Given the description of an element on the screen output the (x, y) to click on. 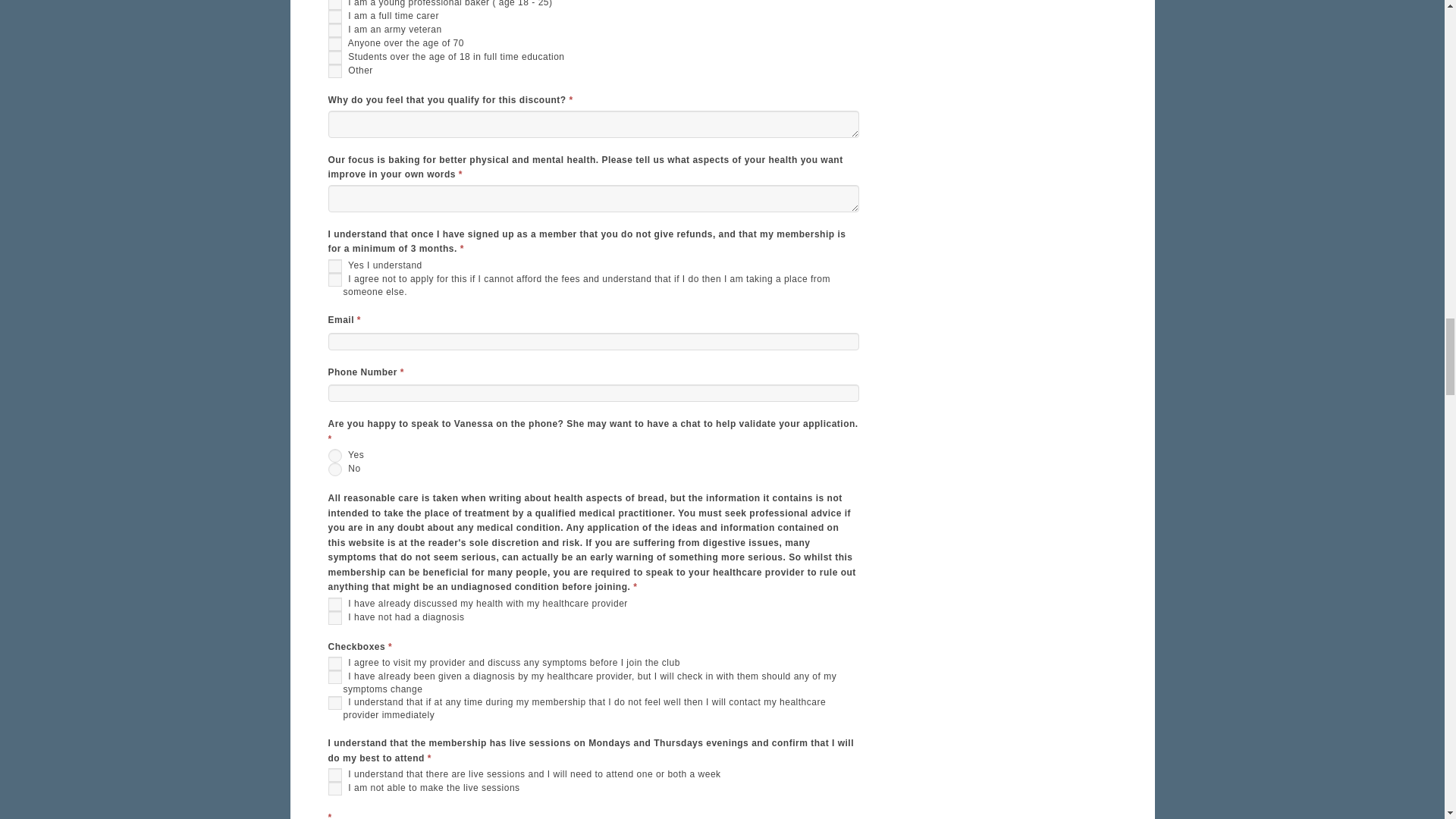
Anyone over the age of 70 (333, 43)
Yes I understand (333, 265)
Other (333, 70)
Students over the age of 18 in full time education (333, 57)
I am a full time carer (333, 16)
I am an army veteran (333, 29)
